Given the description of an element on the screen output the (x, y) to click on. 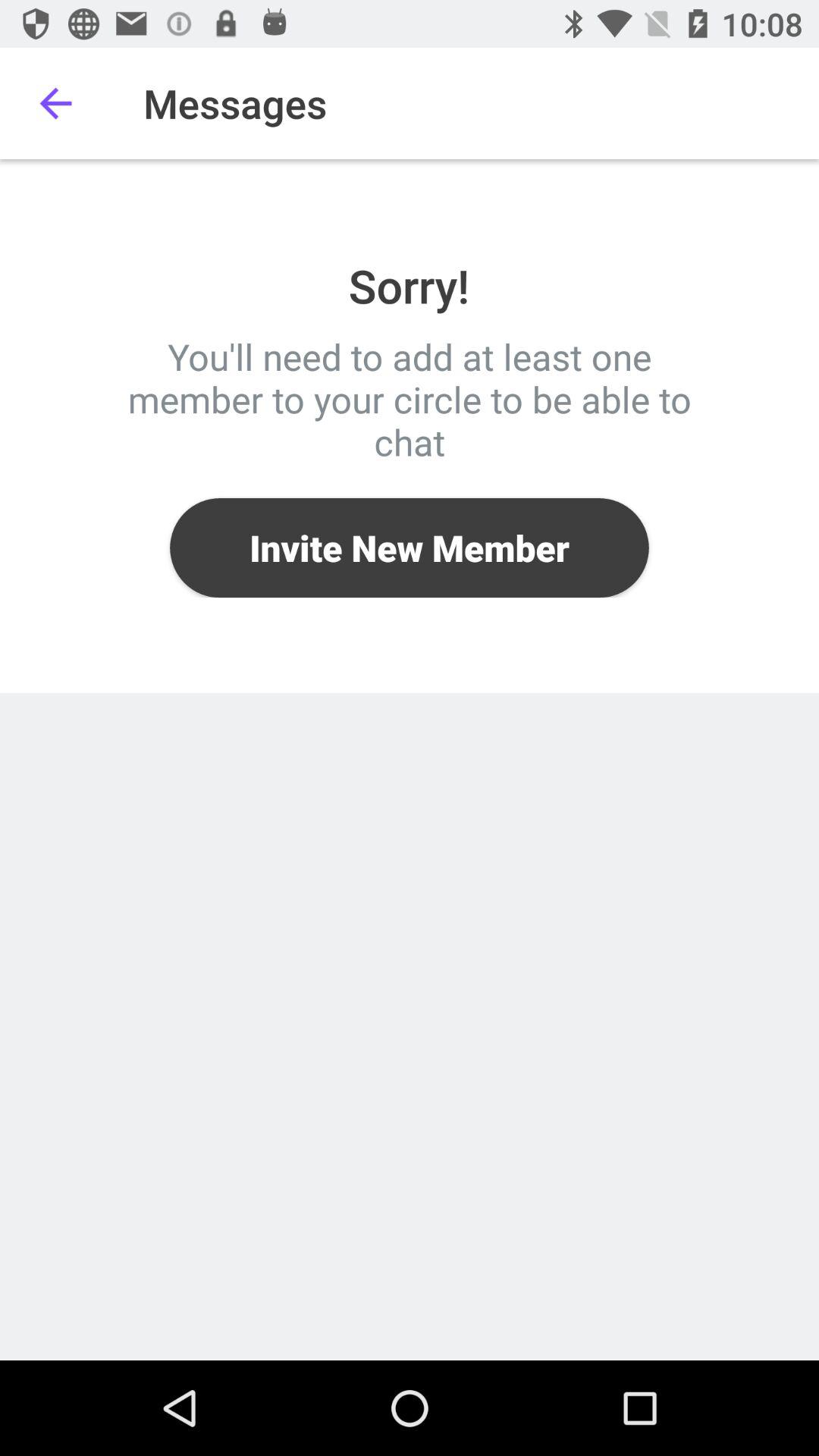
scroll to invite new member icon (409, 547)
